Given the description of an element on the screen output the (x, y) to click on. 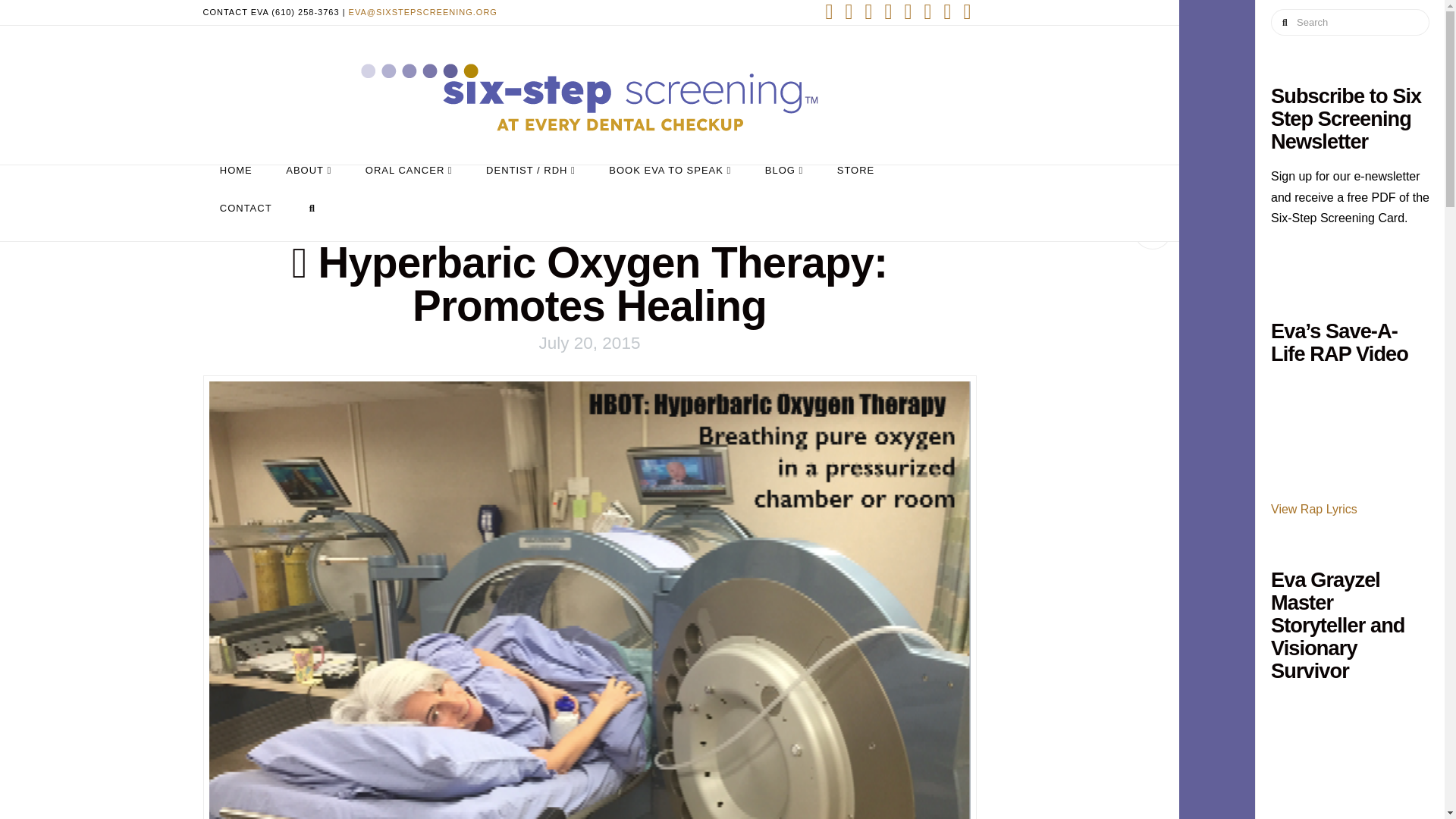
ORAL CANCER (408, 184)
ABOUT (309, 184)
HOME (236, 184)
